Given the description of an element on the screen output the (x, y) to click on. 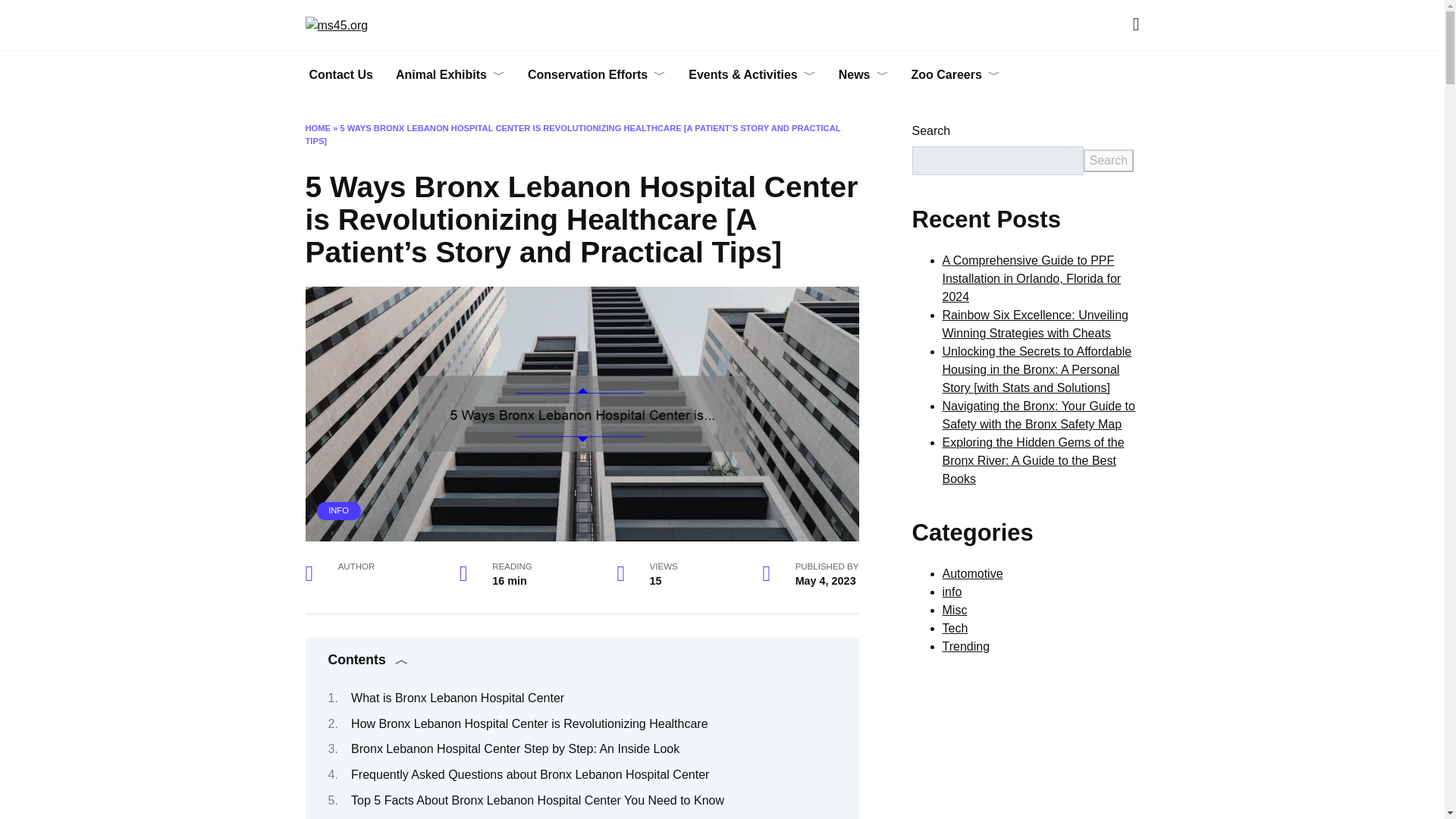
Contact Us (340, 74)
Animal Exhibits (450, 74)
Zoo Careers (954, 74)
Conservation Efforts (596, 74)
News (863, 74)
INFO (339, 510)
HOME (317, 127)
Bronx Lebanon Hospital Center Step by Step: An Inside Look (514, 748)
What is Bronx Lebanon Hospital Center (457, 697)
